Given the description of an element on the screen output the (x, y) to click on. 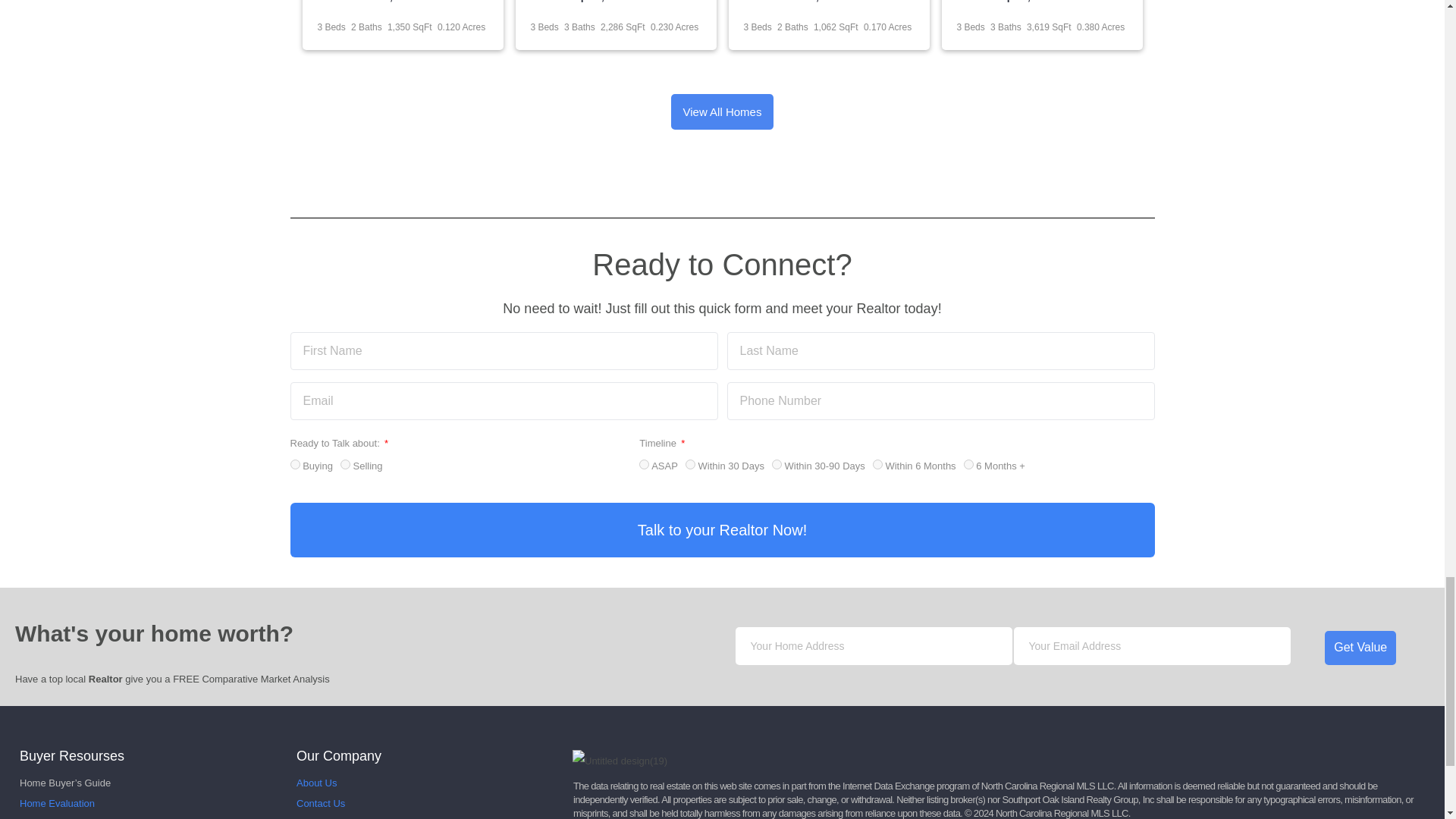
ASAP (644, 464)
Selling (345, 464)
Within 30 Days (690, 464)
Within 6 Months (877, 464)
Buying (294, 464)
Within 30-90 Days (776, 464)
